Given the description of an element on the screen output the (x, y) to click on. 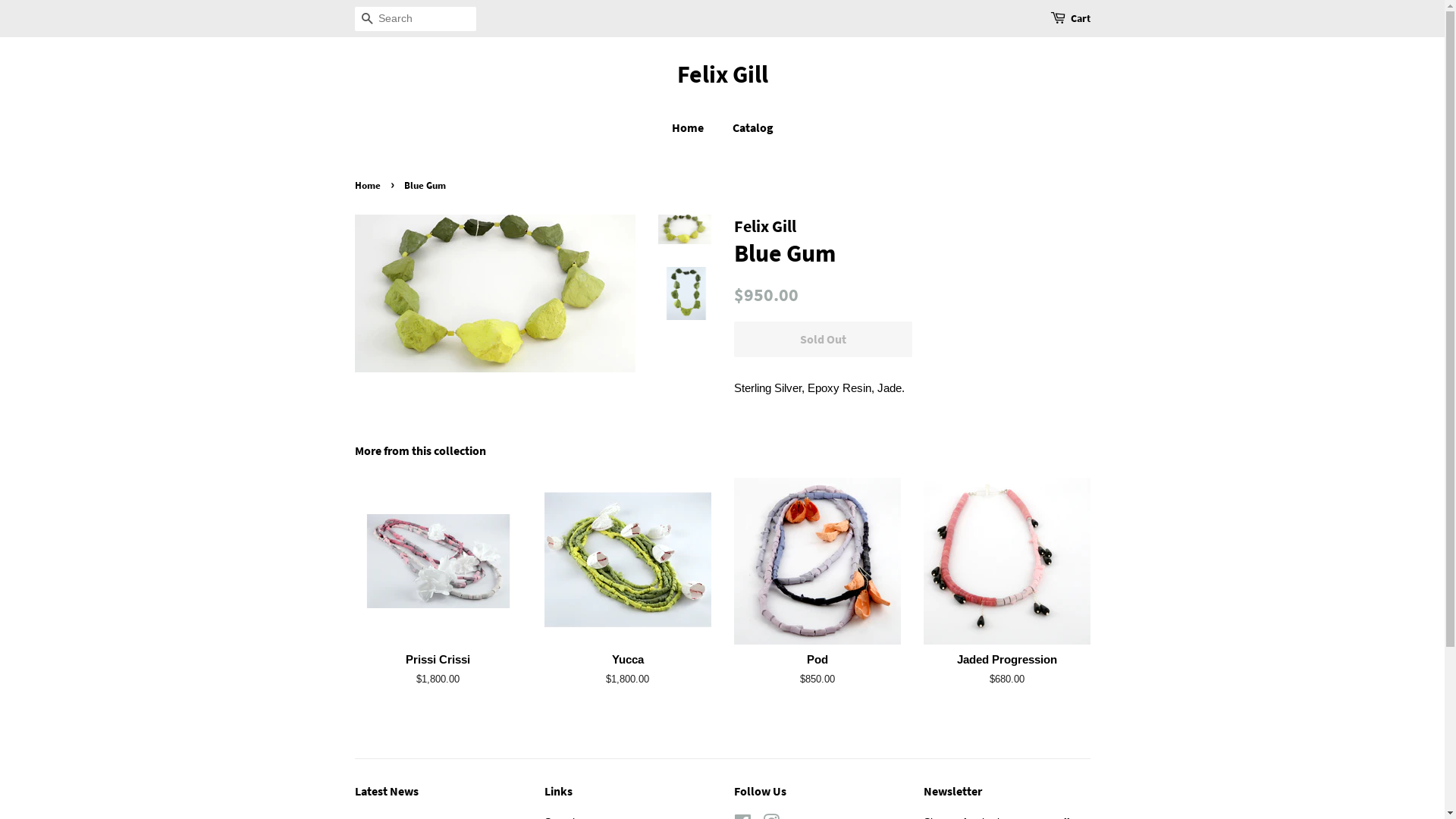
Pod
Regular price
$850.00 Element type: text (817, 595)
Home Element type: text (694, 127)
Prissi Crissi
Regular price
$1,800.00 Element type: text (437, 595)
Sold Out Element type: text (823, 339)
Cart Element type: text (1080, 18)
Catalog Element type: text (746, 127)
Jaded Progression
Regular price
$680.00 Element type: text (1006, 595)
Search Element type: text (366, 18)
Home Element type: text (369, 184)
Latest News Element type: text (386, 790)
Yucca
Regular price
$1,800.00 Element type: text (627, 595)
Felix Gill Element type: text (722, 73)
